Given the description of an element on the screen output the (x, y) to click on. 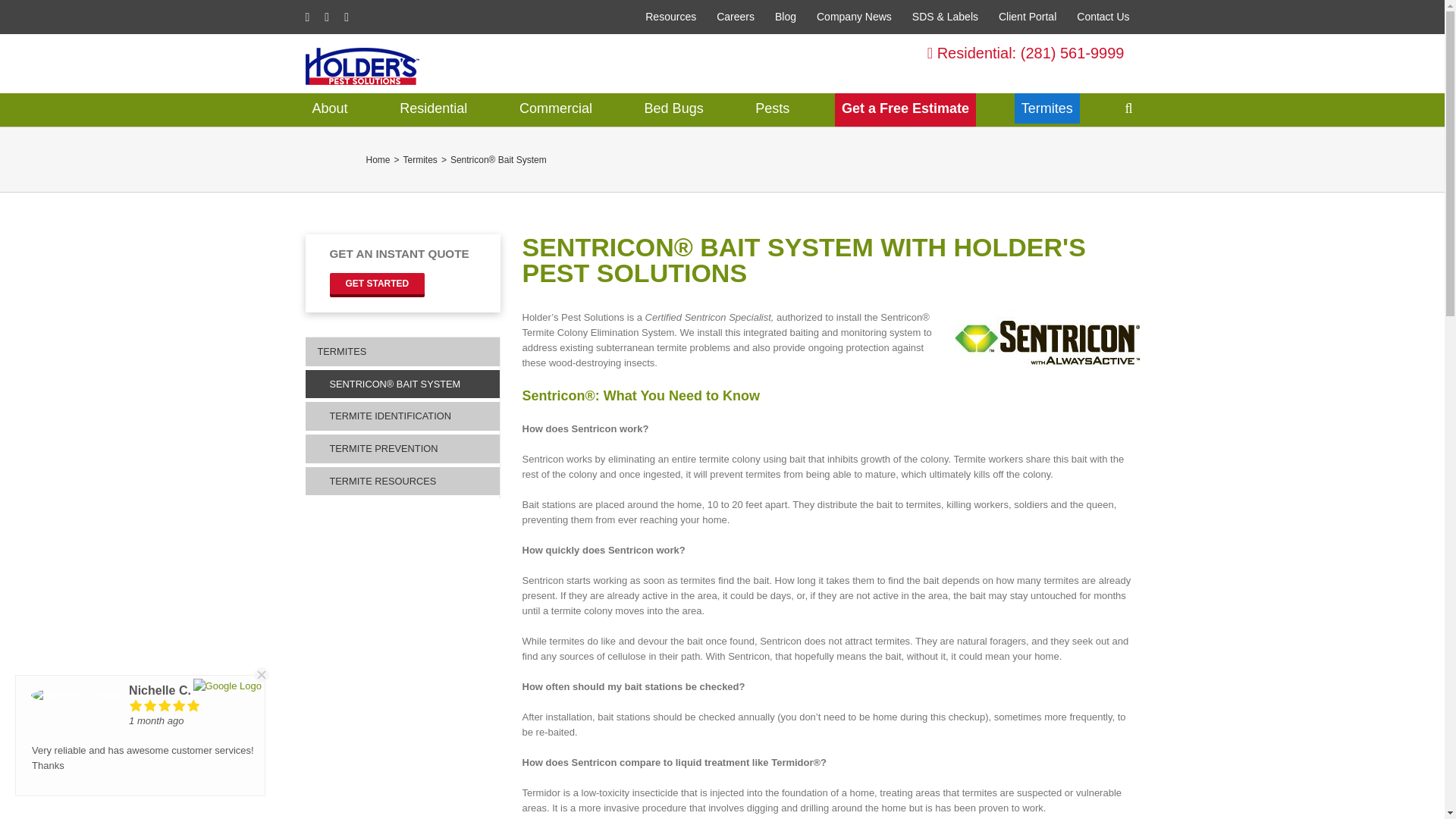
About (328, 108)
Careers (735, 16)
Blog (785, 16)
Resources (670, 16)
Contact Us (1102, 16)
Residential (433, 108)
Company News (853, 16)
Back to Parent Page (401, 353)
Client Portal (1026, 16)
